Given the description of an element on the screen output the (x, y) to click on. 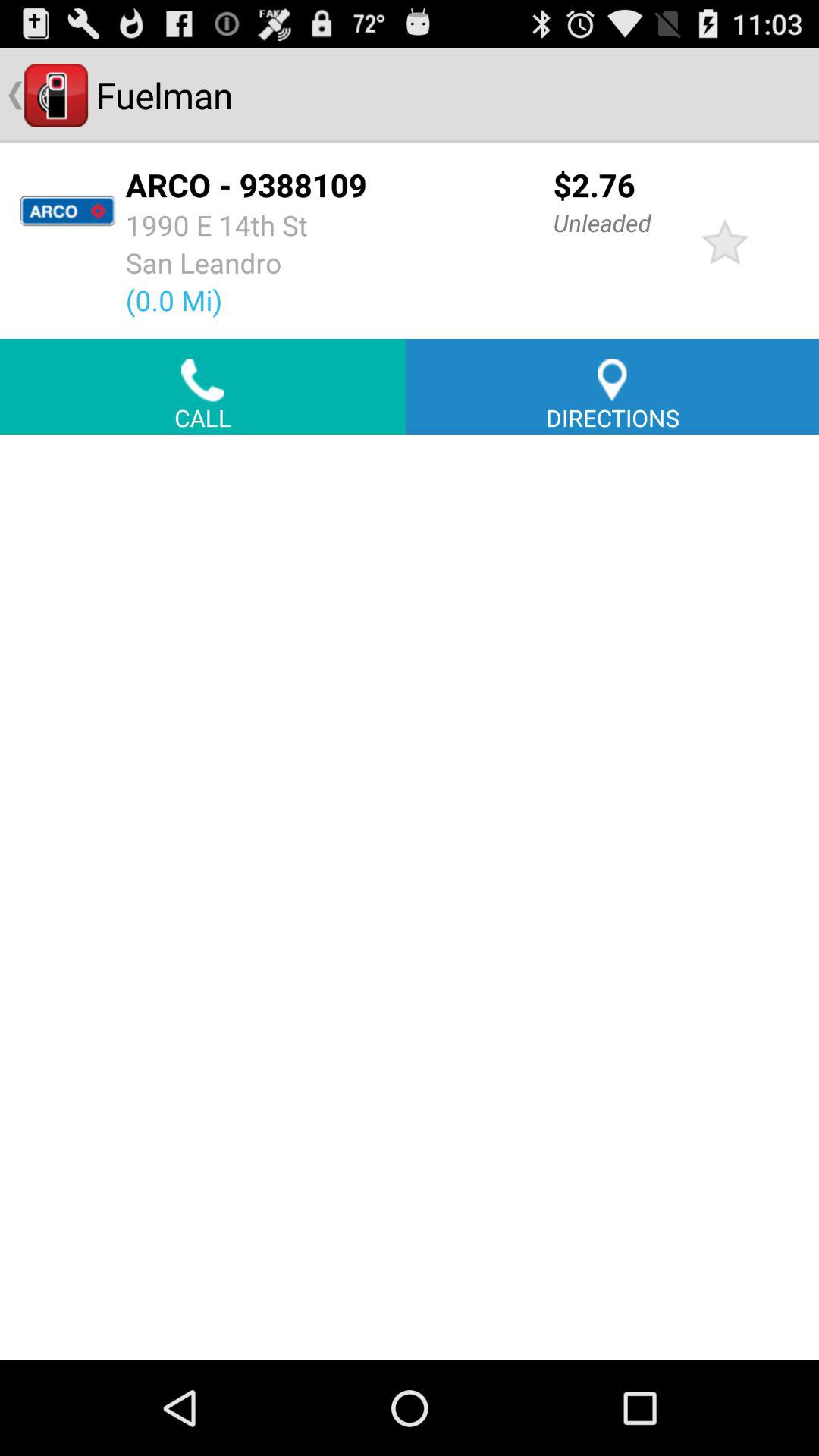
click the button next to directions button (203, 386)
